Given the description of an element on the screen output the (x, y) to click on. 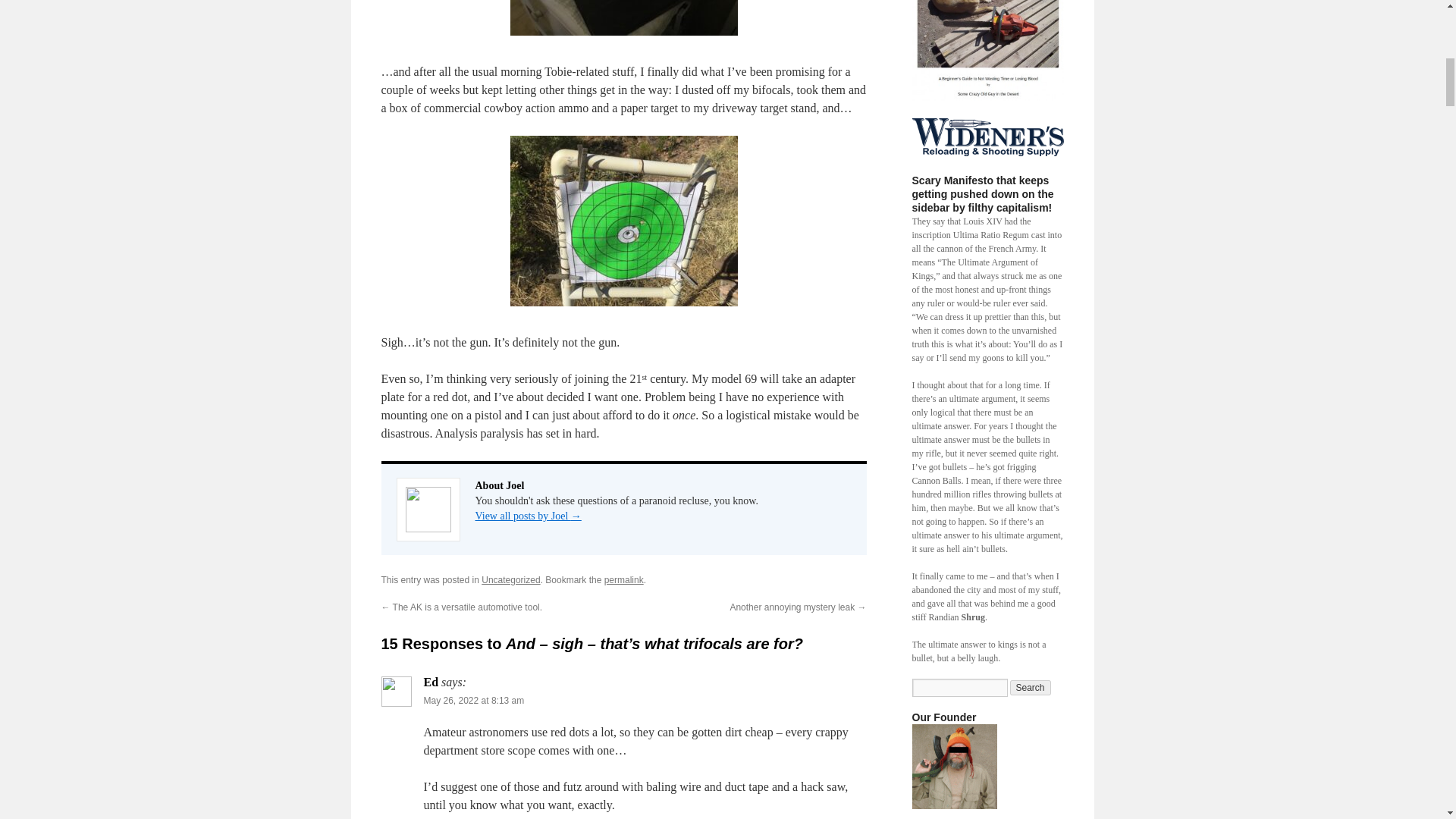
permalink (623, 579)
Search (1030, 687)
It matches my shoes and purse. (953, 766)
Uncategorized (510, 579)
May 26, 2022 at 8:13 am (473, 700)
